Given the description of an element on the screen output the (x, y) to click on. 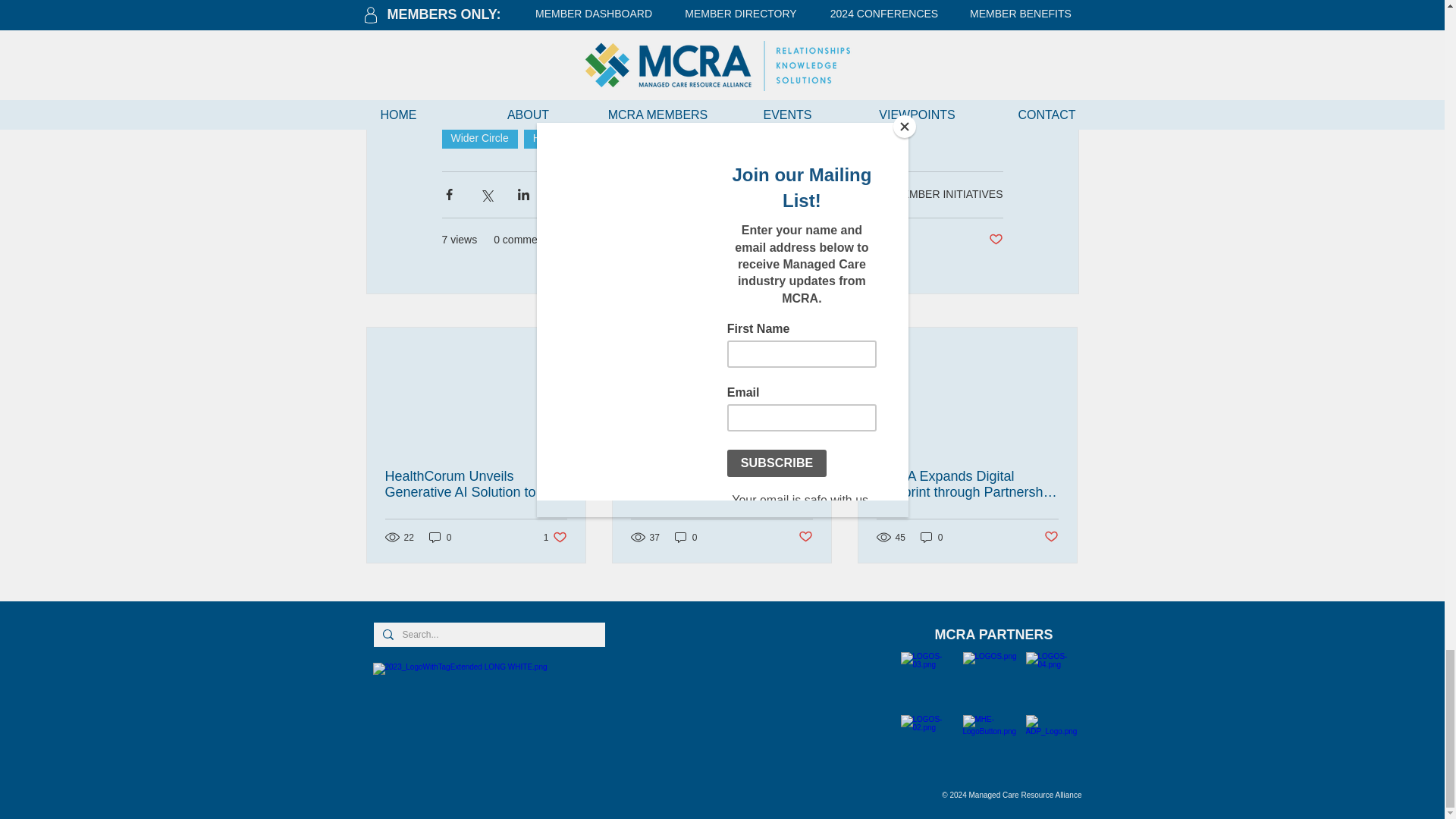
0 (440, 536)
Health Equity (564, 137)
MEMBER INITIATIVES (948, 193)
NCQA (635, 137)
Post not marked as liked (995, 239)
Wider Circle (555, 536)
